Given the description of an element on the screen output the (x, y) to click on. 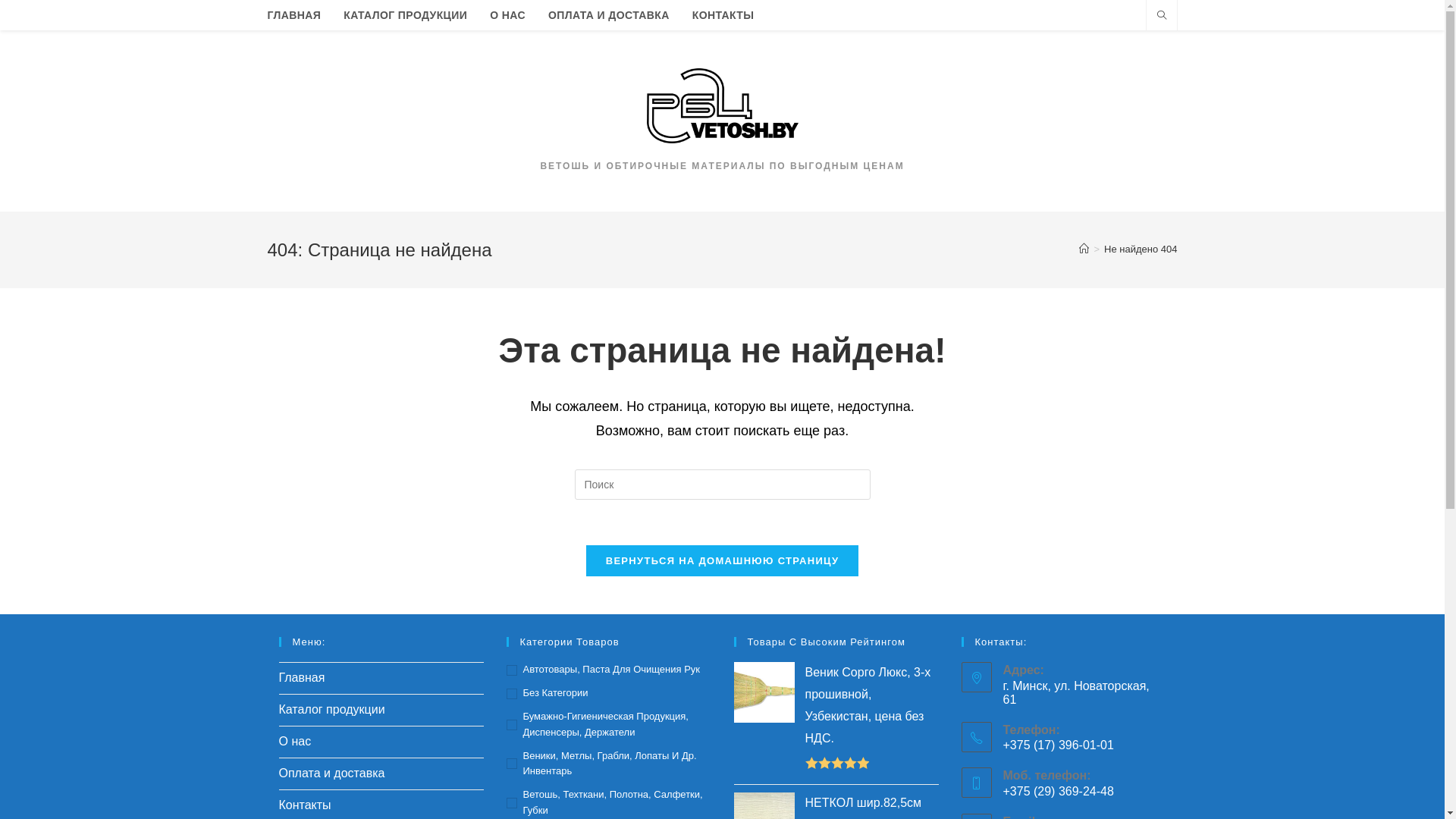
+375 (17) 396-01-01 Element type: text (1083, 745)
